Given the description of an element on the screen output the (x, y) to click on. 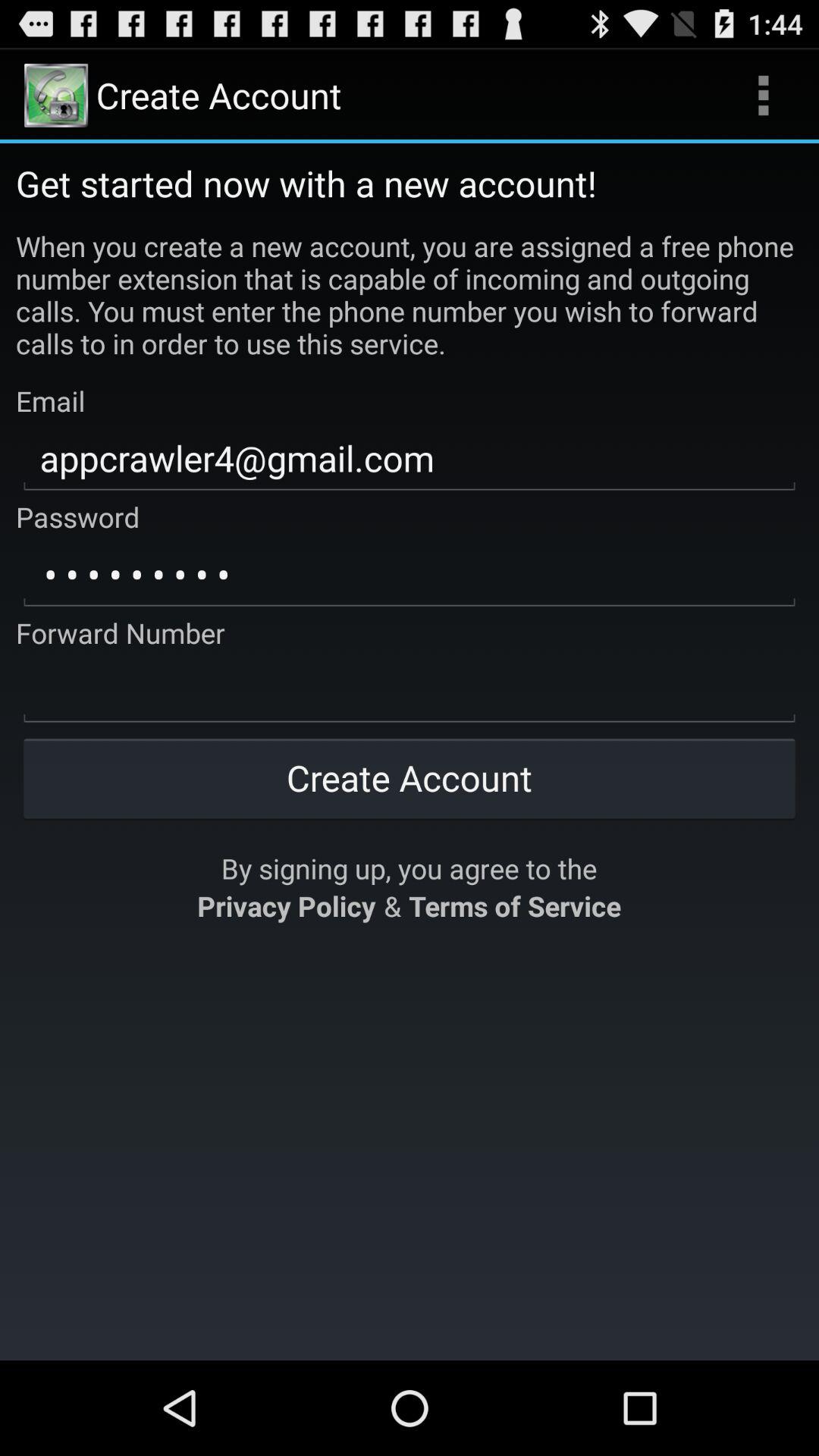
dialog box (409, 690)
